Given the description of an element on the screen output the (x, y) to click on. 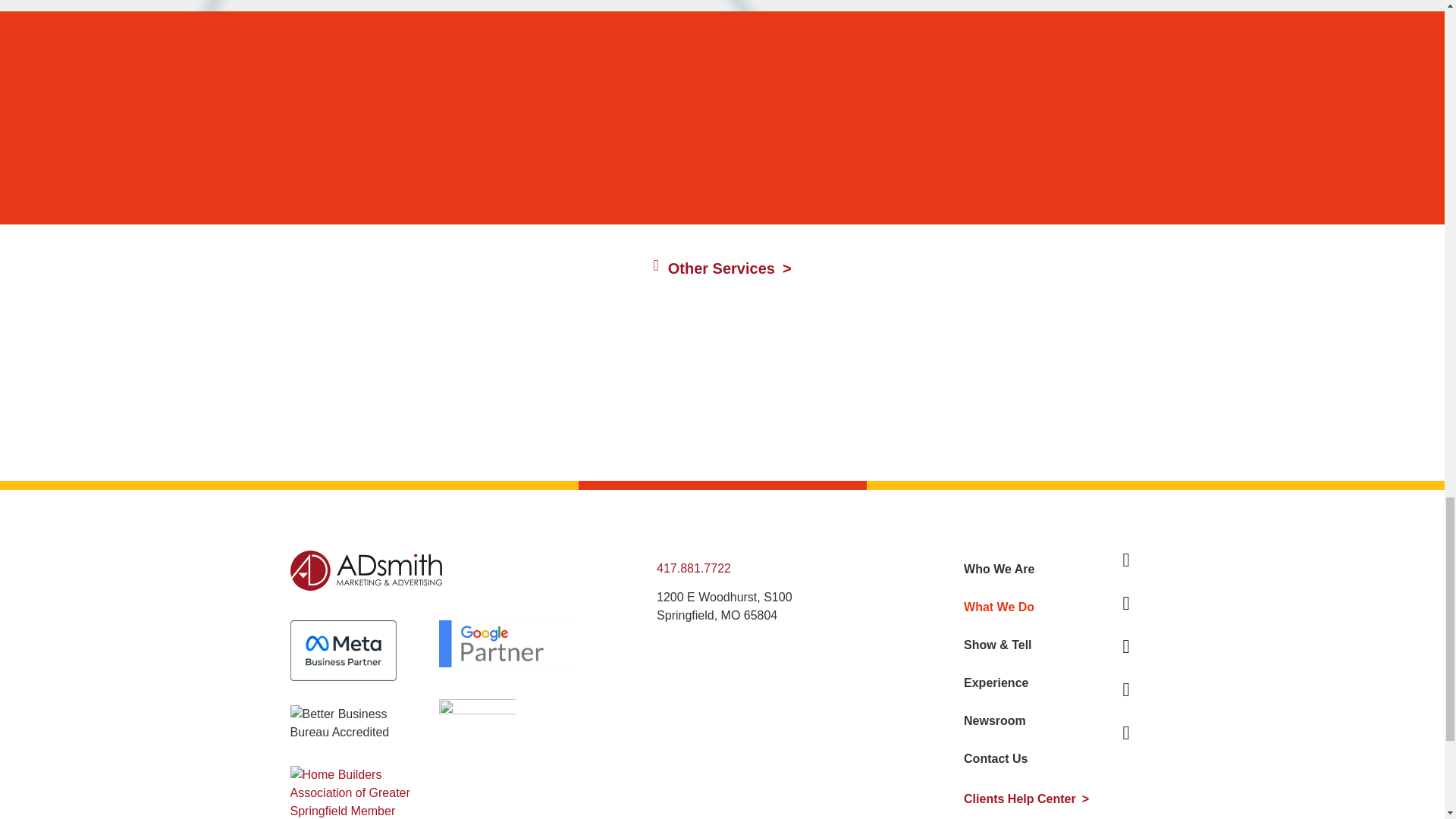
Who We Are (1033, 569)
417.881.7722 (693, 567)
Experience (1033, 682)
Other Services (721, 268)
What We Do (1033, 607)
